Given the description of an element on the screen output the (x, y) to click on. 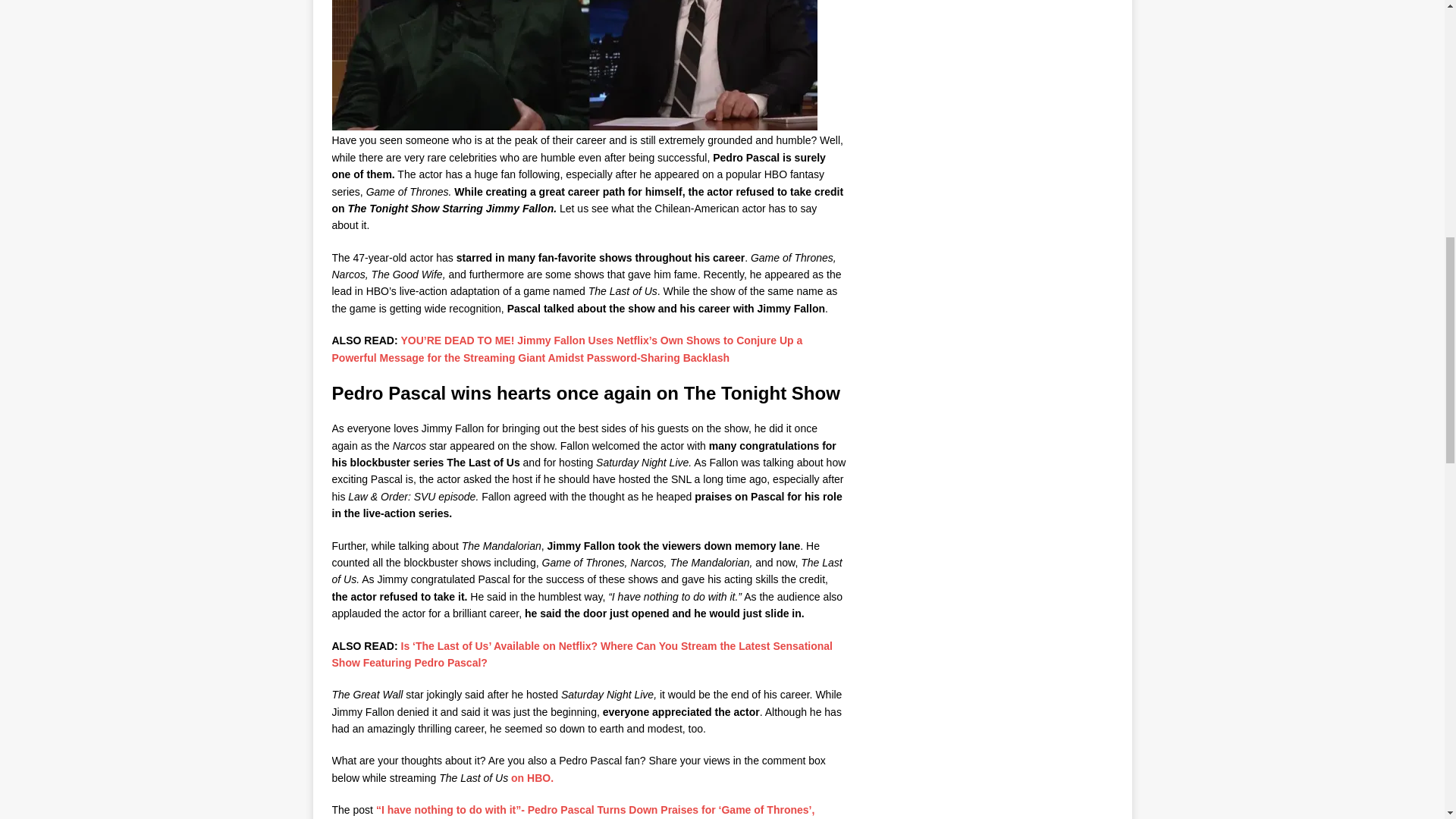
on HBO. (532, 777)
